Given the description of an element on the screen output the (x, y) to click on. 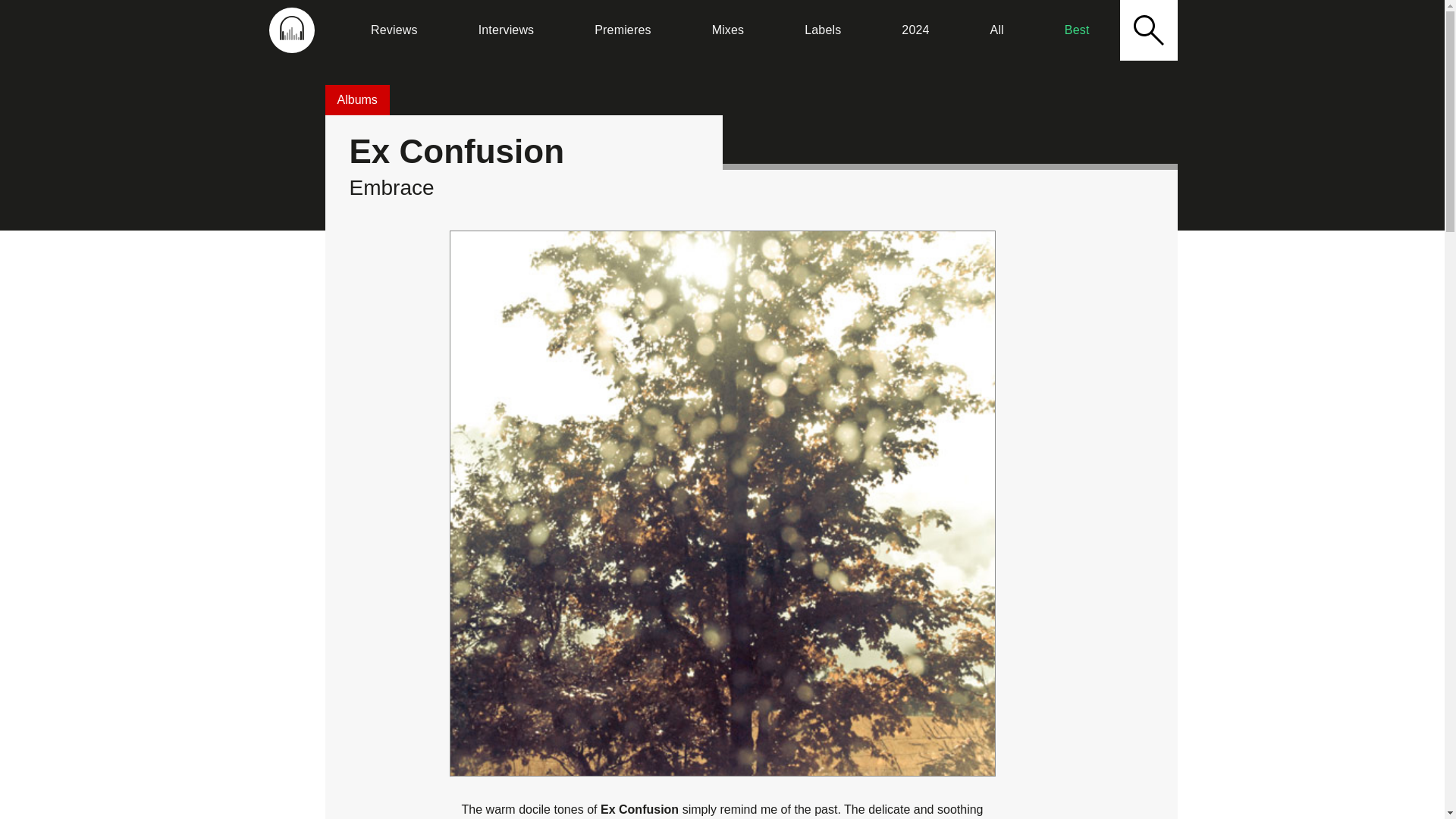
Interviews (505, 30)
Labels (822, 30)
Reviews (394, 30)
Embrace (391, 187)
Headphone Commute (290, 30)
Premieres (622, 30)
Best (1077, 30)
Albums (356, 100)
Mixes (728, 30)
All (997, 30)
2024 (914, 30)
